Given the description of an element on the screen output the (x, y) to click on. 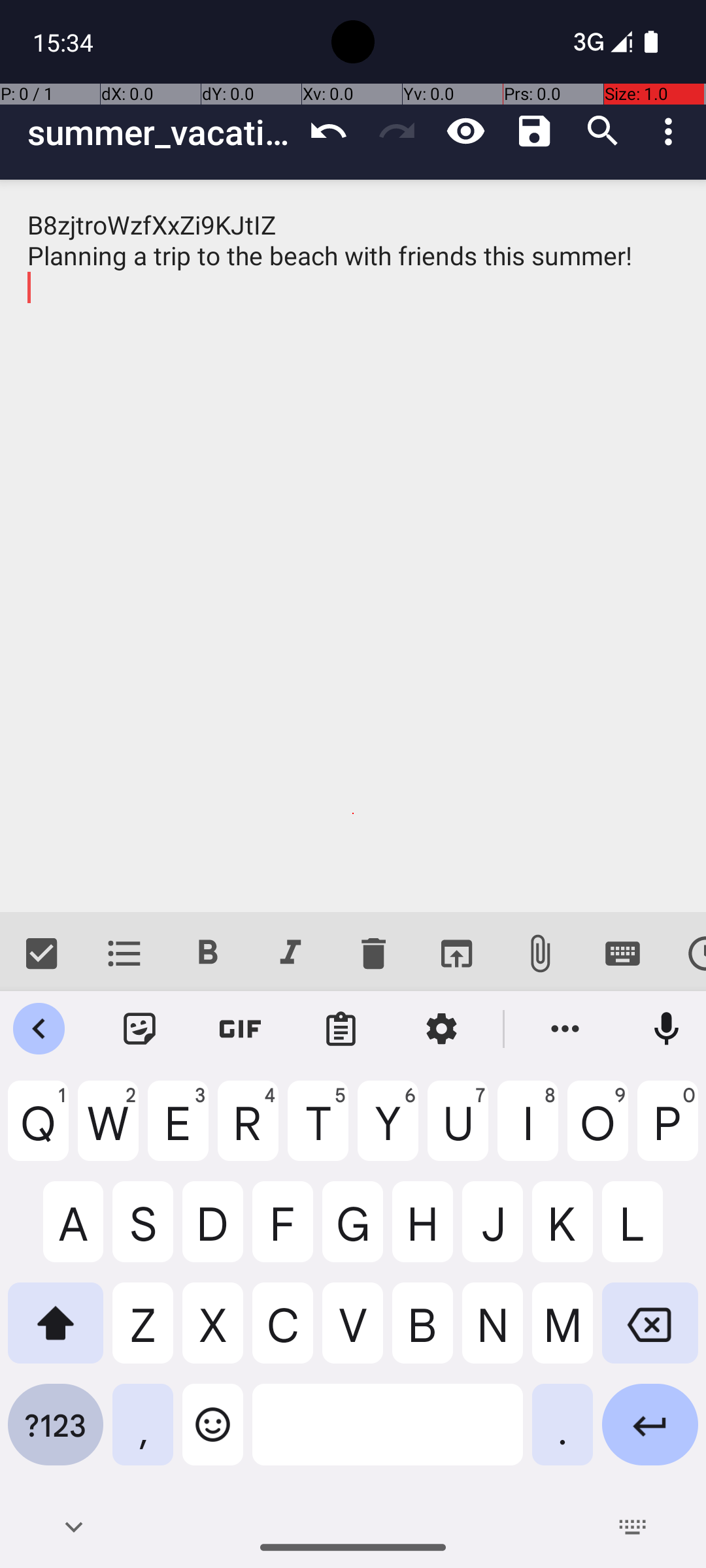
summer_vacation_plans_HRXn Element type: android.widget.TextView (160, 131)
B8zjtroWzfXxZi9KJtIZ
Planning a trip to the beach with friends this summer!
 Element type: android.widget.EditText (353, 545)
